Given the description of an element on the screen output the (x, y) to click on. 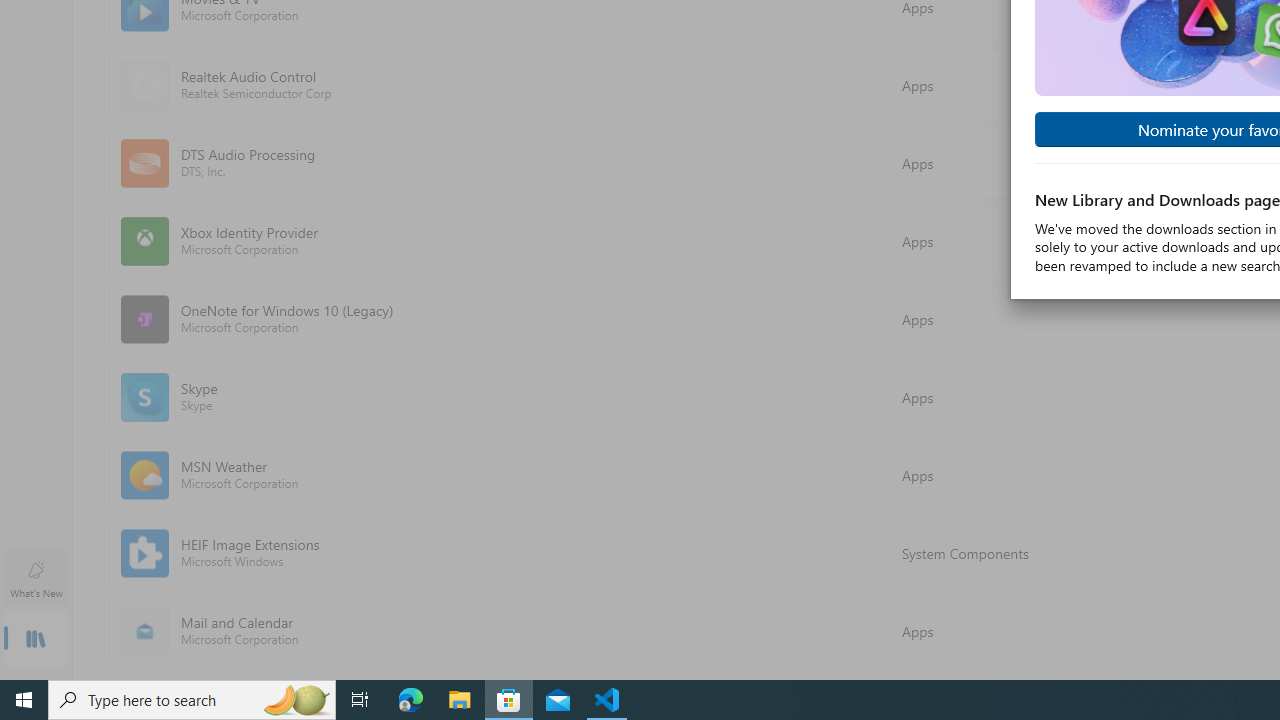
Library (35, 640)
What's New (35, 578)
